Given the description of an element on the screen output the (x, y) to click on. 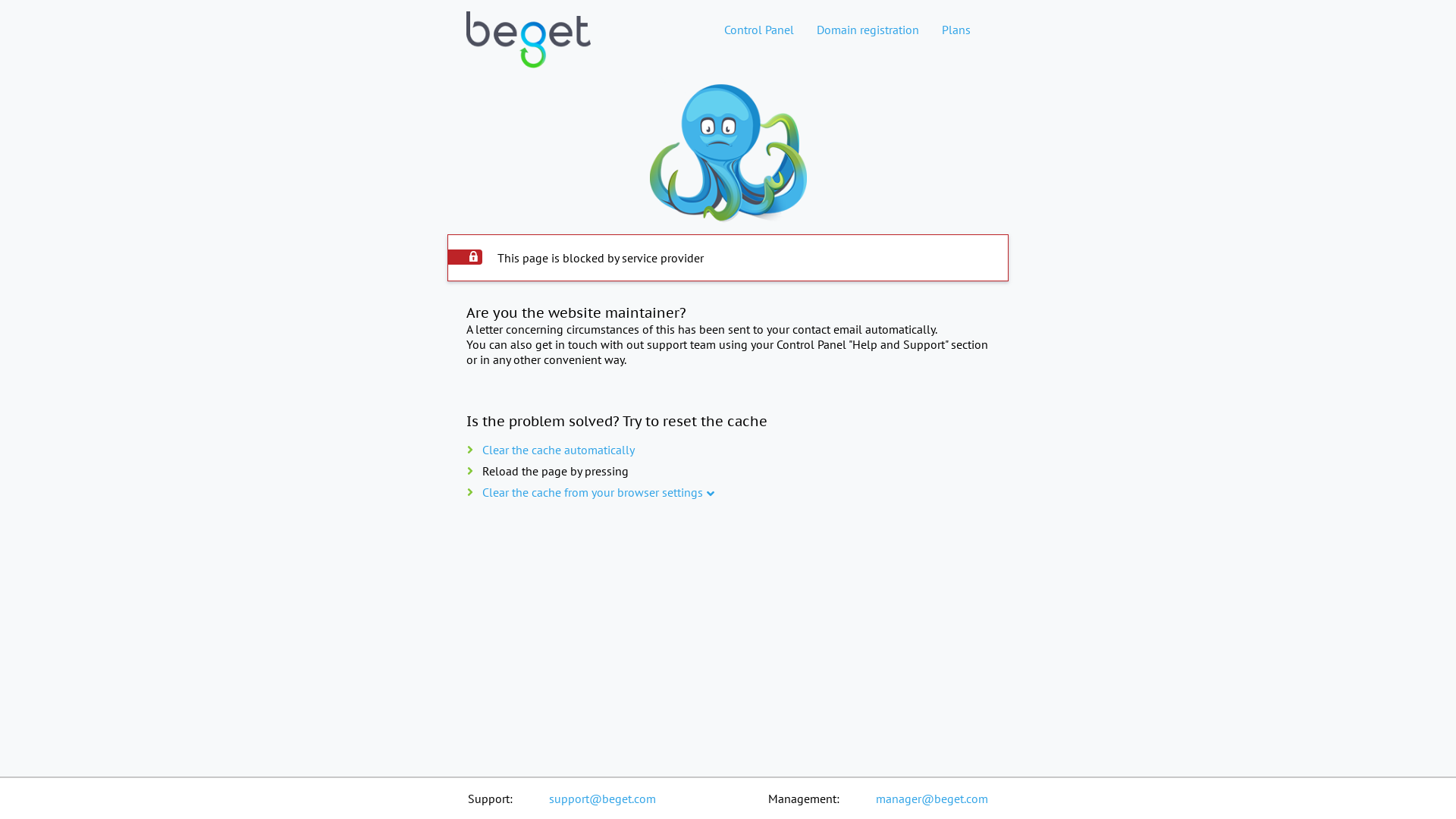
Domain registration Element type: text (867, 29)
Web hosting home page Element type: hover (528, 51)
manager@beget.com Element type: text (931, 798)
Control Panel Element type: text (758, 29)
support@beget.com Element type: text (602, 798)
Plans Element type: text (956, 29)
Clear the cache automatically Element type: text (558, 449)
Clear the cache from your browser settings Element type: text (592, 491)
